Given the description of an element on the screen output the (x, y) to click on. 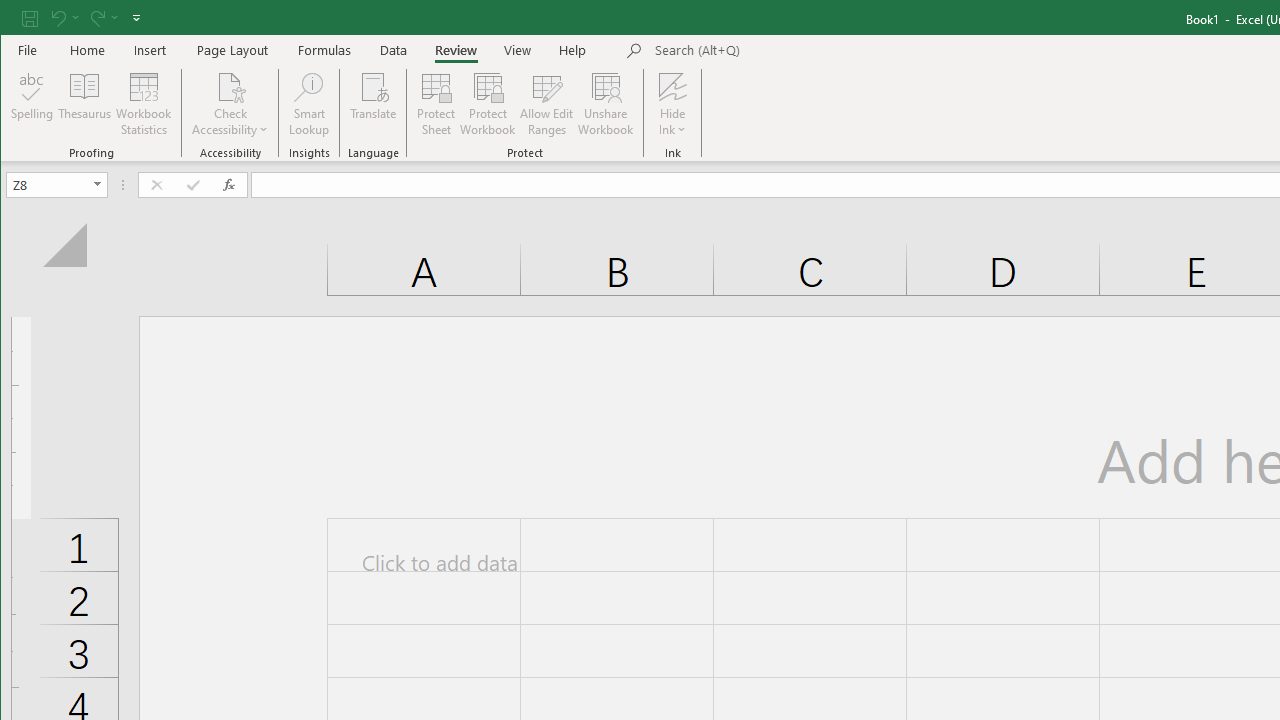
Check Accessibility (230, 86)
